Given the description of an element on the screen output the (x, y) to click on. 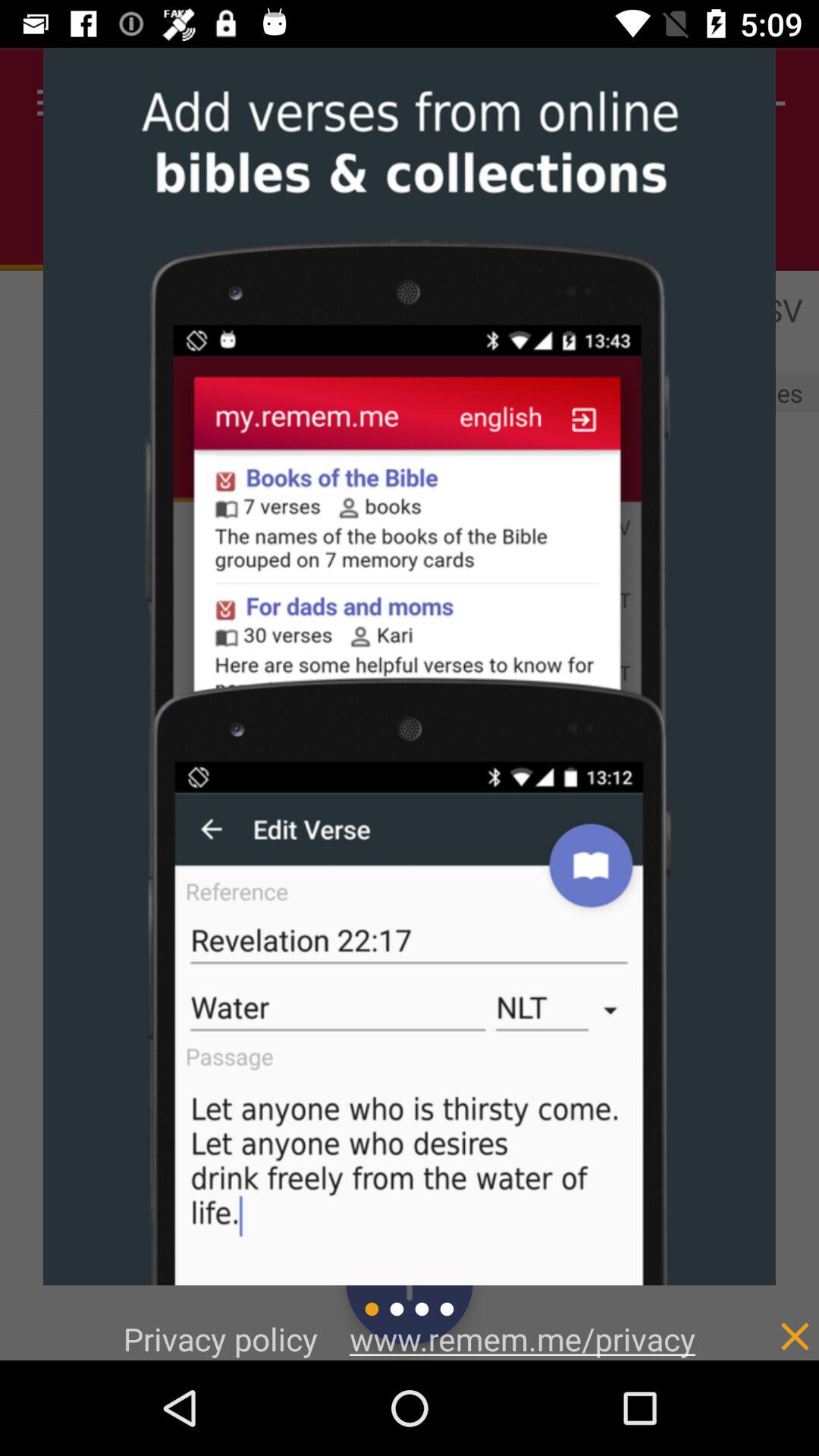
press item at the bottom right corner (763, 1320)
